Given the description of an element on the screen output the (x, y) to click on. 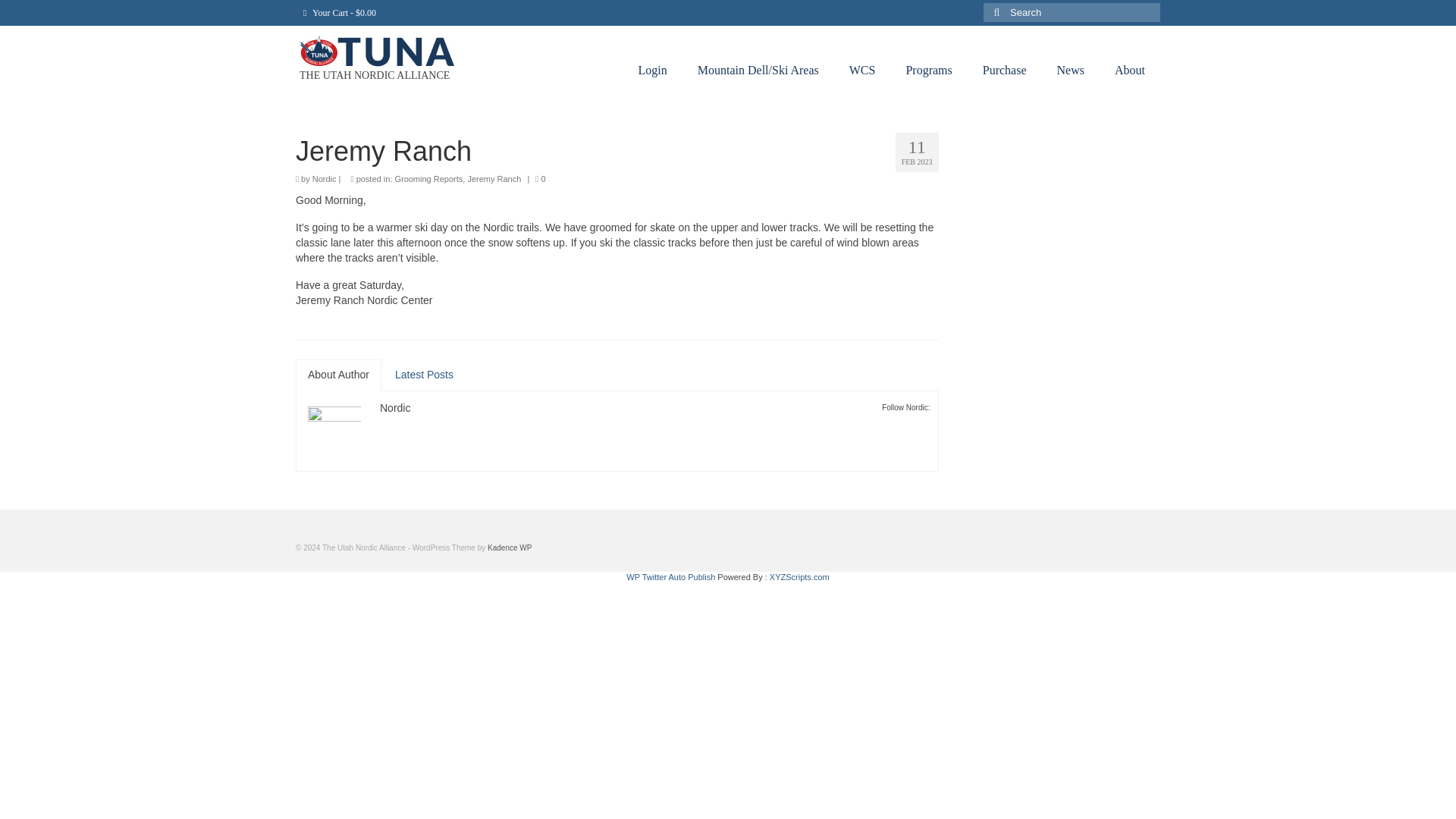
Programs (927, 70)
WP Twitter Auto Publish (670, 576)
View your shopping cart (339, 12)
Posts by Nordic (395, 408)
WCS (862, 70)
Login (652, 70)
Purchase (1005, 70)
